Given the description of an element on the screen output the (x, y) to click on. 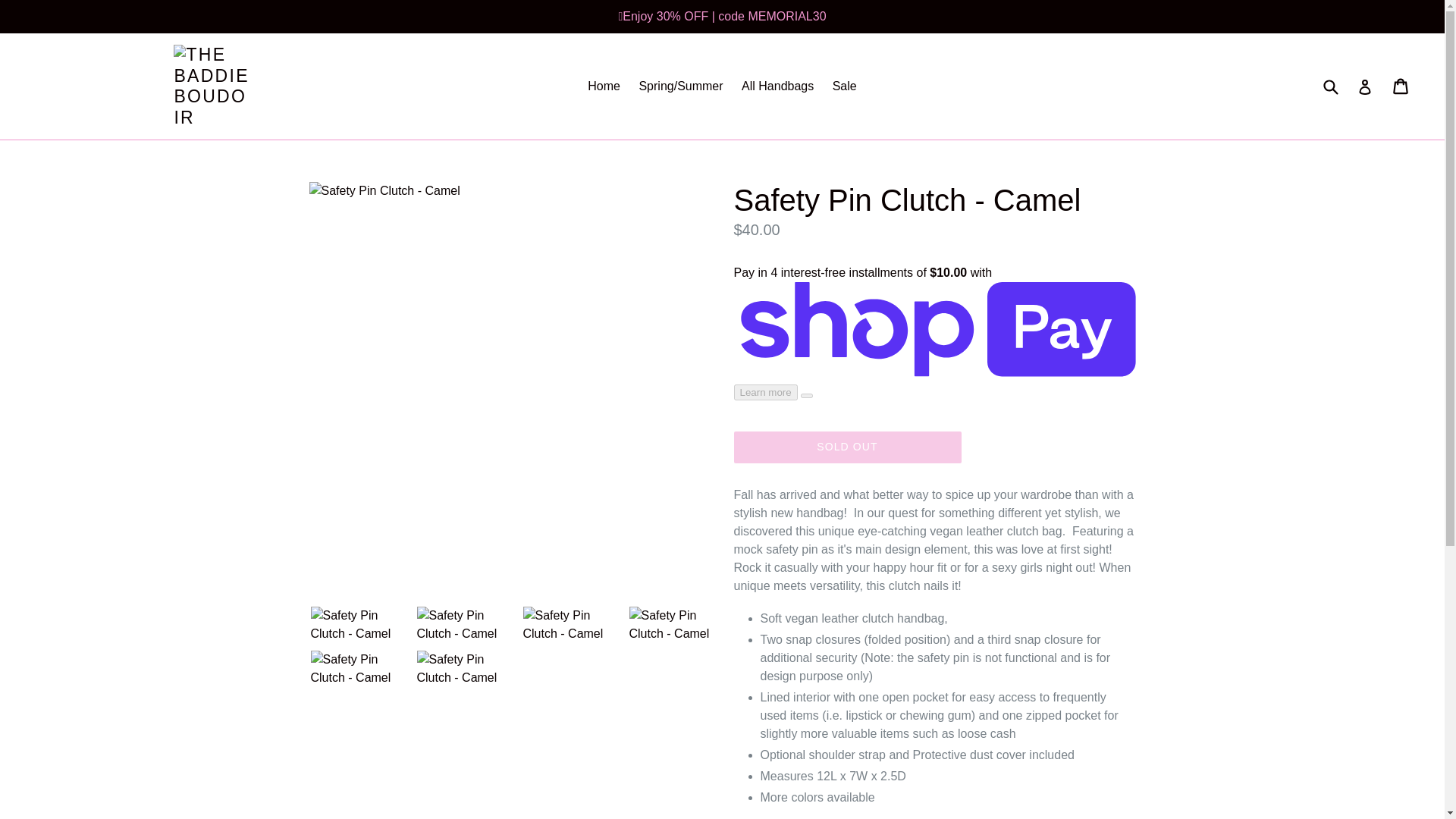
Home (603, 86)
SOLD OUT (846, 447)
Sale (844, 86)
All Handbags (777, 86)
